Given the description of an element on the screen output the (x, y) to click on. 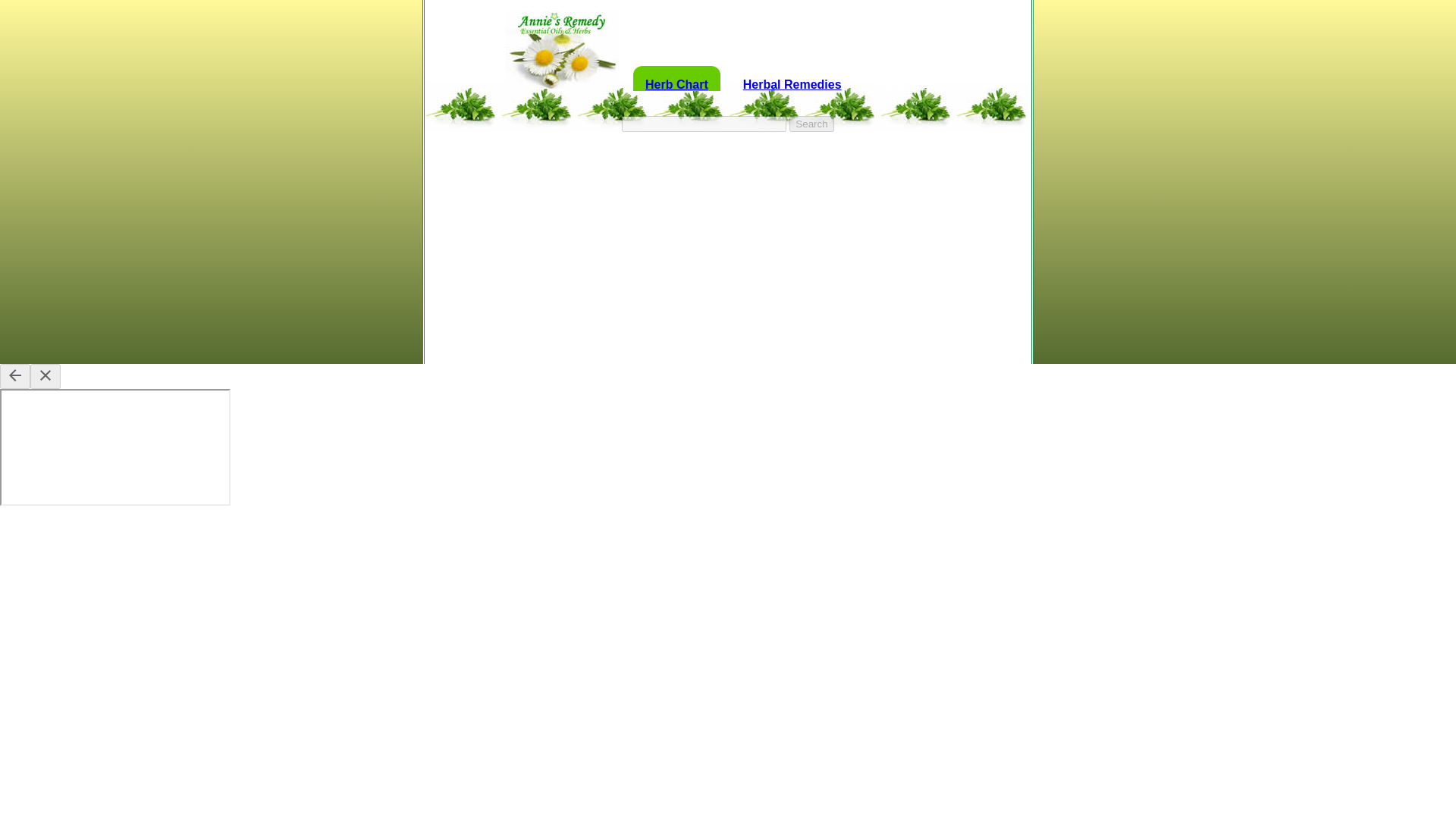
Search (810, 123)
Herb Store (907, 78)
Herbal Remedies (791, 78)
Search (810, 123)
Herb Chart (676, 78)
